Given the description of an element on the screen output the (x, y) to click on. 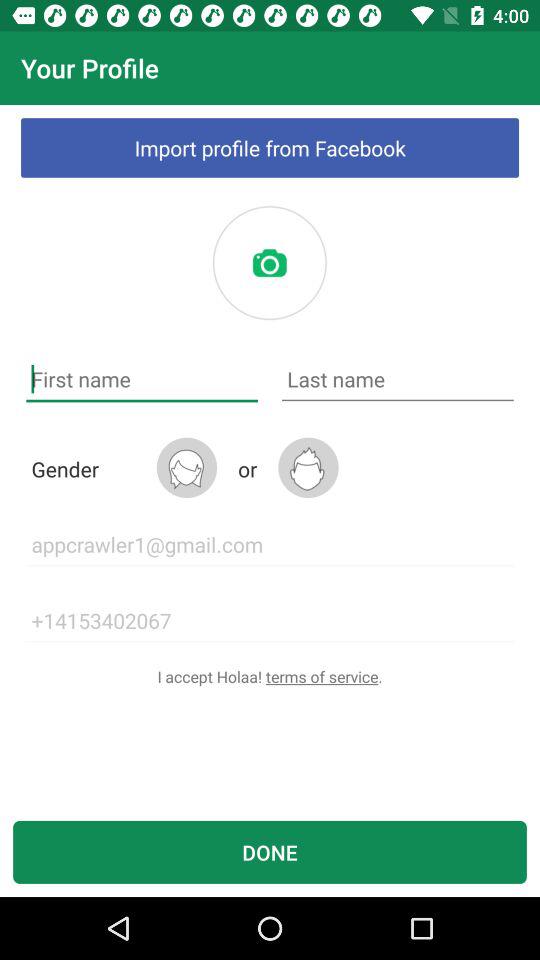
click the i accept holaa item (269, 676)
